Given the description of an element on the screen output the (x, y) to click on. 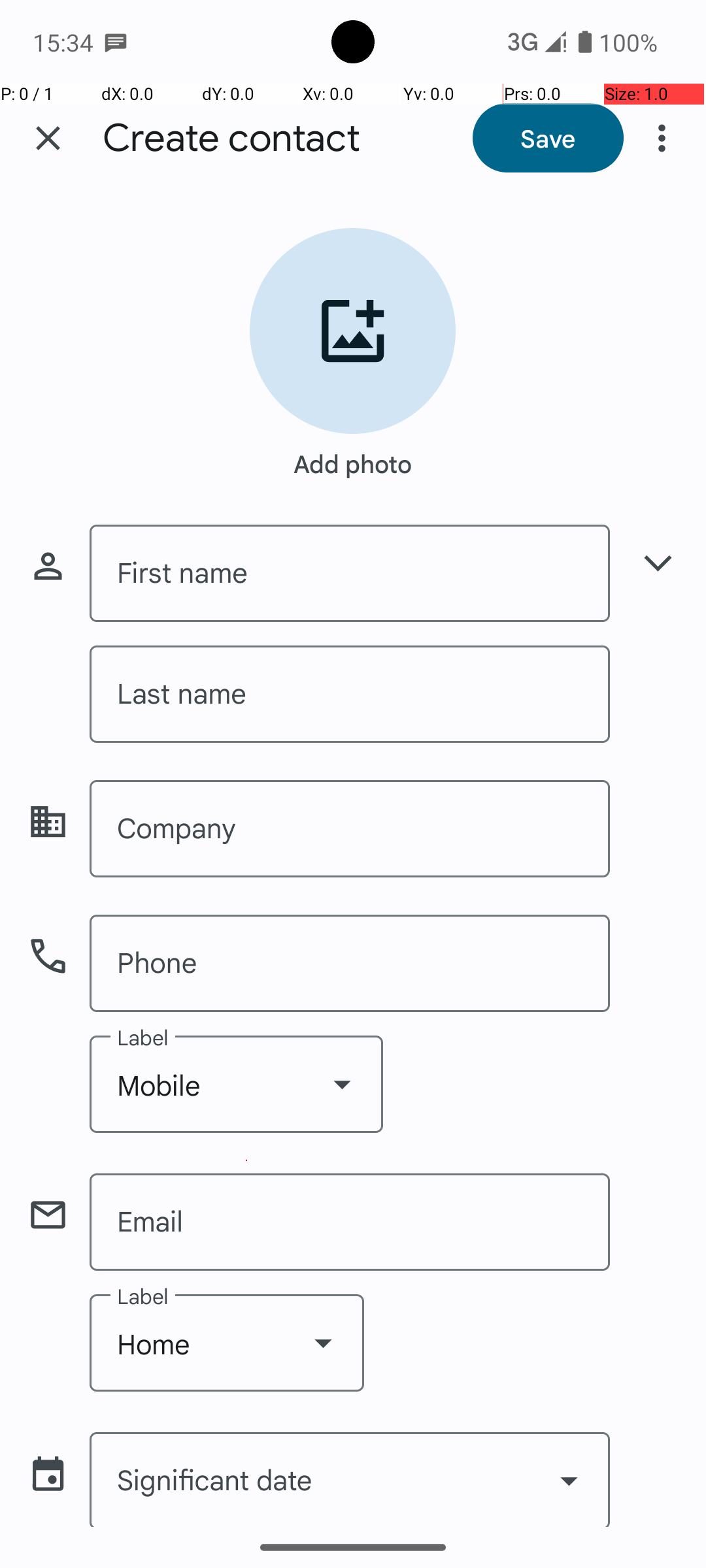
First name Element type: android.widget.EditText (349, 572)
Last name Element type: android.widget.EditText (349, 693)
Mobile Element type: android.widget.Spinner (236, 1083)
Show dropdown menu Element type: android.widget.ImageButton (341, 1083)
Email Element type: android.widget.EditText (349, 1221)
Significant date Element type: android.widget.EditText (349, 1479)
Show date picker Element type: android.widget.ImageButton (568, 1480)
Add contact photo Element type: android.widget.ImageView (352, 330)
Add photo Element type: android.widget.TextView (352, 456)
Show more name fields Element type: android.widget.ImageView (657, 562)
